Given the description of an element on the screen output the (x, y) to click on. 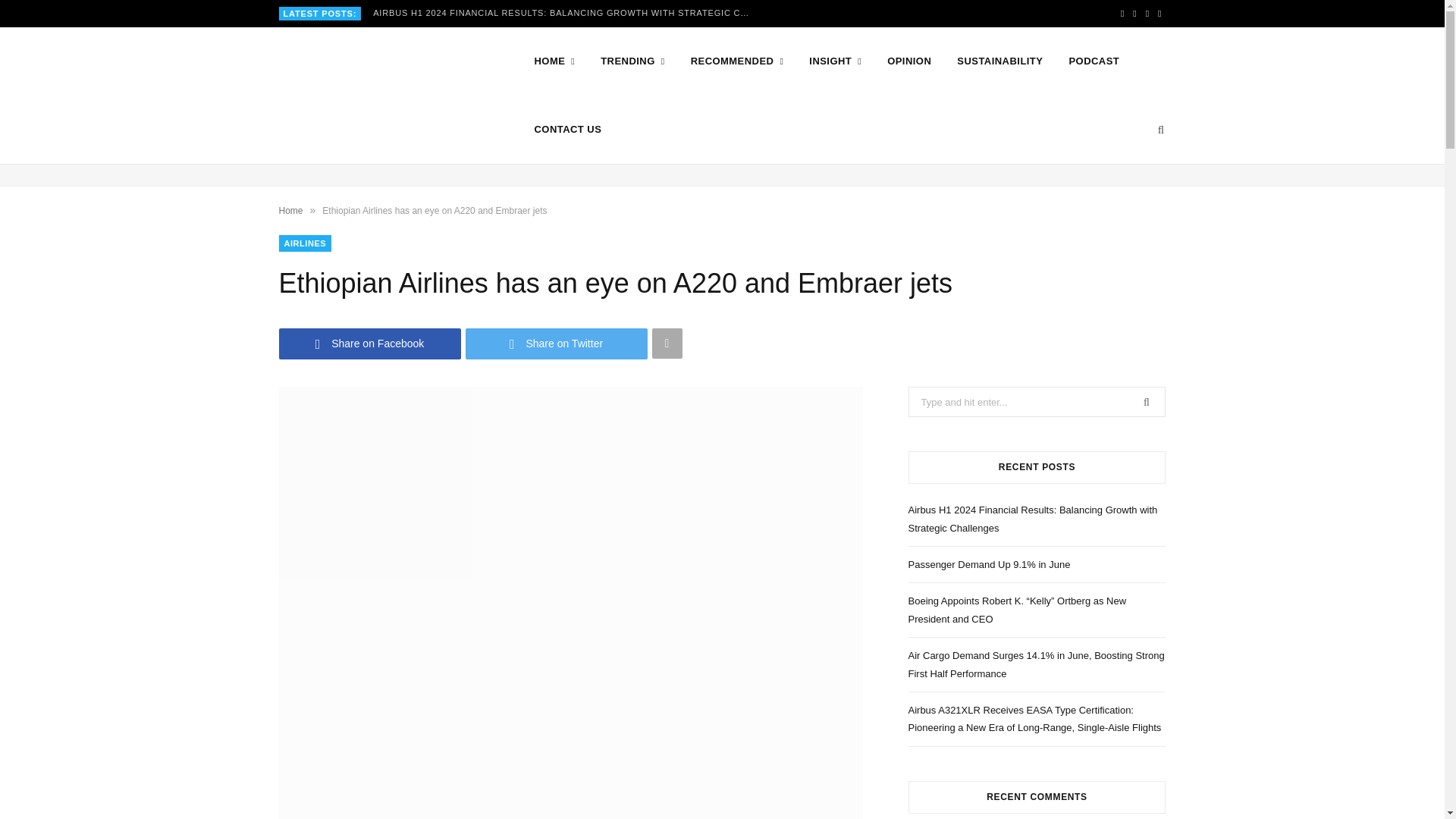
Airspace Africa (381, 96)
TRENDING (632, 61)
HOME (554, 61)
